Given the description of an element on the screen output the (x, y) to click on. 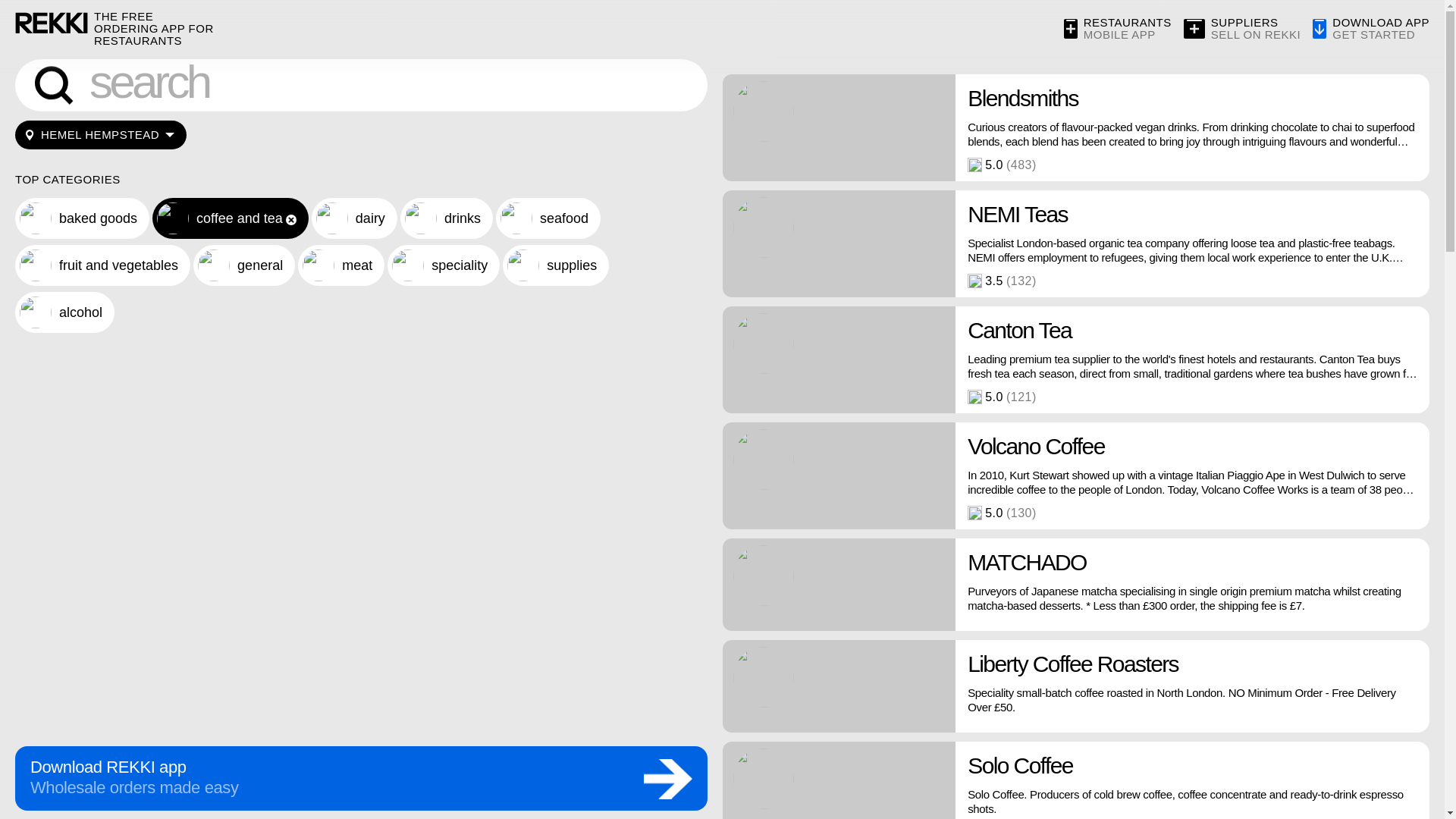
THE FREE ORDERING APP FOR RESTAURANTS (156, 28)
supplies (555, 264)
alcohol (64, 311)
seafood (547, 218)
fruit and vegetables (102, 264)
speciality (443, 264)
meat (1242, 29)
dairy (341, 264)
general (354, 218)
